Given the description of an element on the screen output the (x, y) to click on. 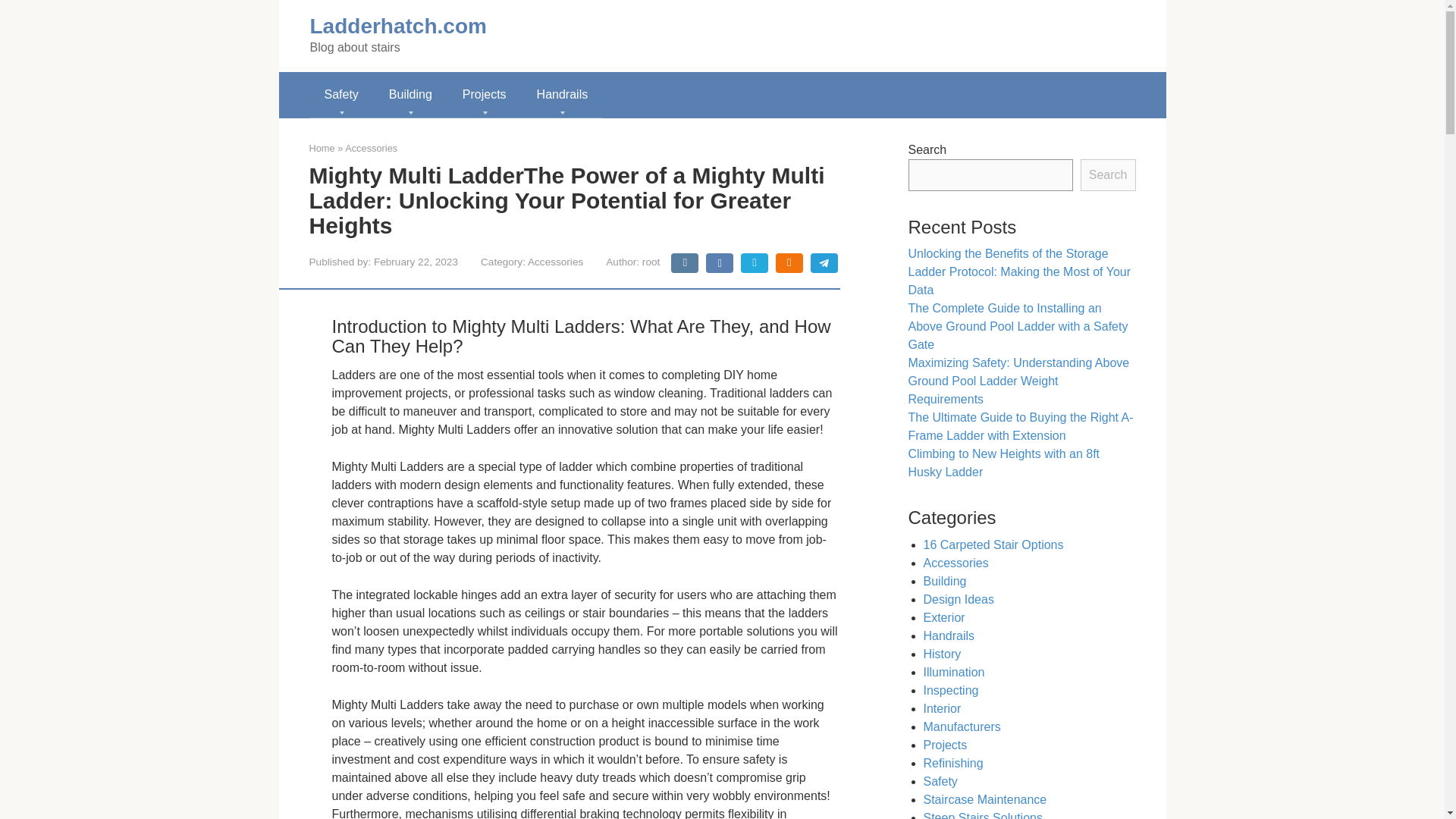
Ladderhatch.com (397, 25)
Projects (483, 94)
Accessories (371, 147)
Search (1107, 174)
Safety (341, 94)
Handrails (562, 94)
Accessories (555, 261)
Building (410, 94)
Home (321, 147)
